Given the description of an element on the screen output the (x, y) to click on. 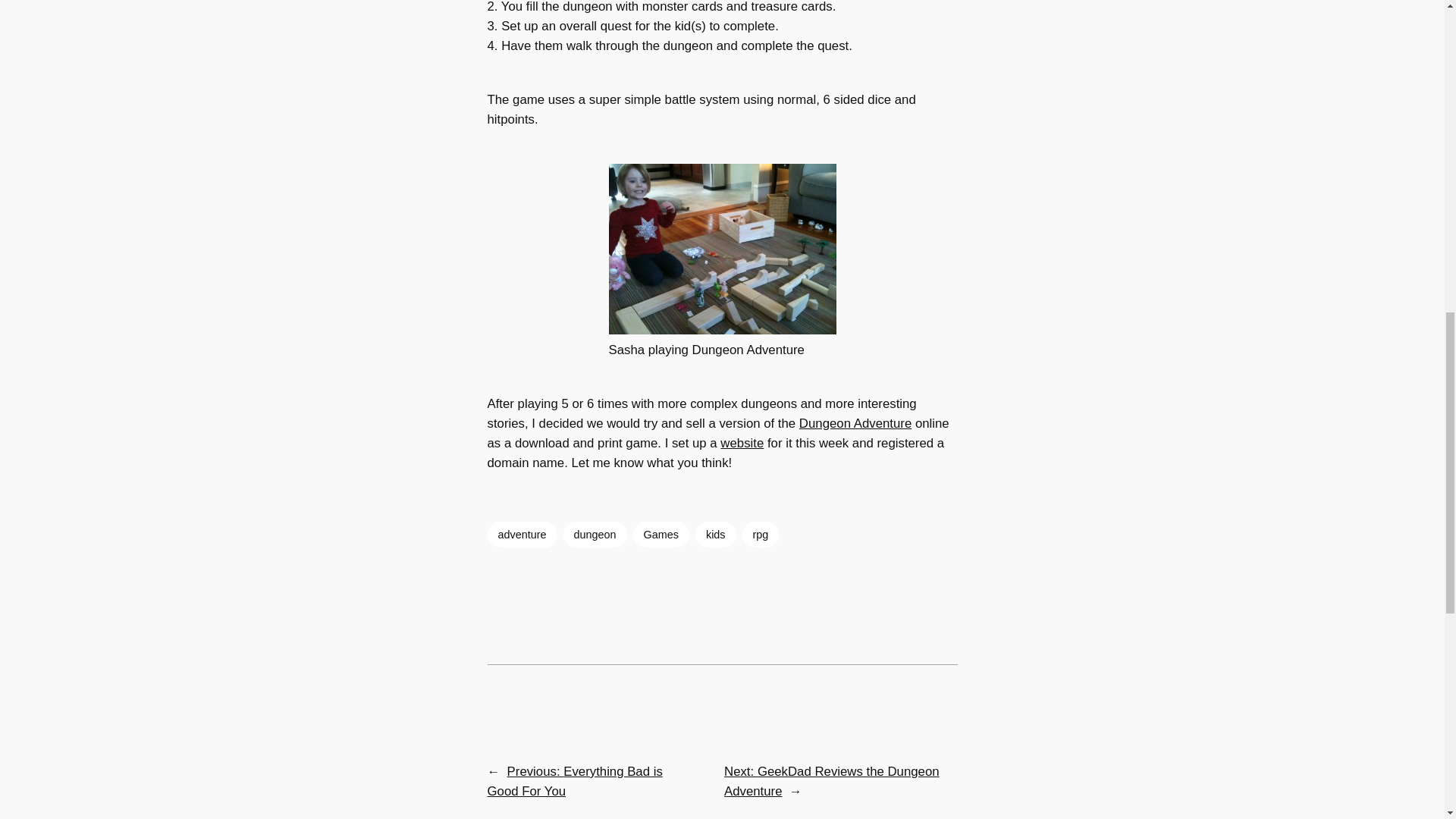
website (741, 442)
Dungeon Adventure (855, 423)
Games (660, 534)
kids (715, 534)
Next: GeekDad Reviews the Dungeon Adventure (831, 781)
rpg (760, 534)
Previous: Everything Bad is Good For You (574, 781)
Sasha playing Dungeon Adventure (721, 248)
adventure (521, 534)
dungeon (595, 534)
